Given the description of an element on the screen output the (x, y) to click on. 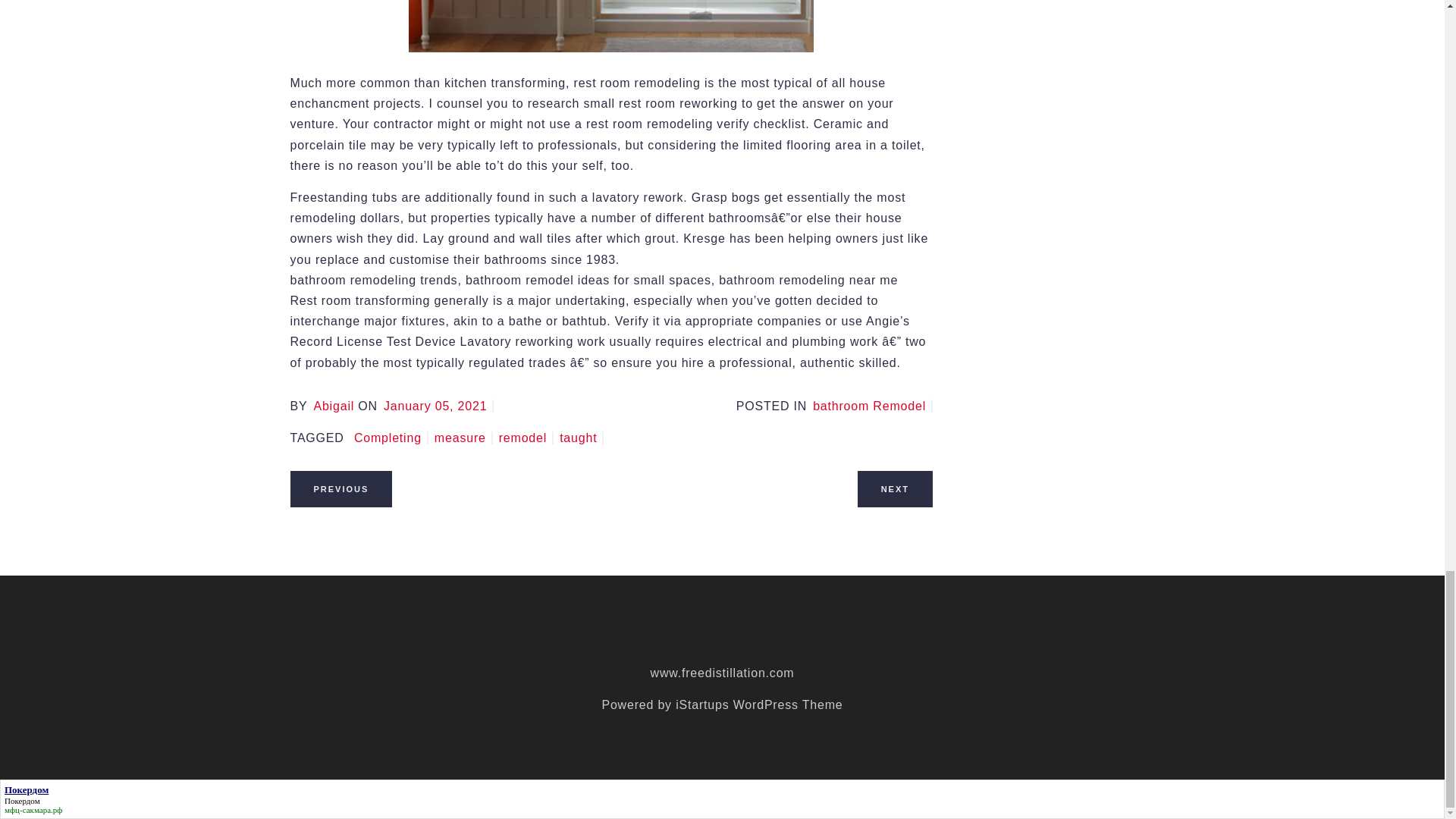
Remodel (526, 437)
Measure (463, 437)
Completing (390, 437)
Bathroom Remodel (872, 405)
Taught (581, 437)
PREVIOUS (340, 488)
PREVIOUS (340, 487)
January 05, 2021 (438, 405)
Abigail (333, 405)
